Given the description of an element on the screen output the (x, y) to click on. 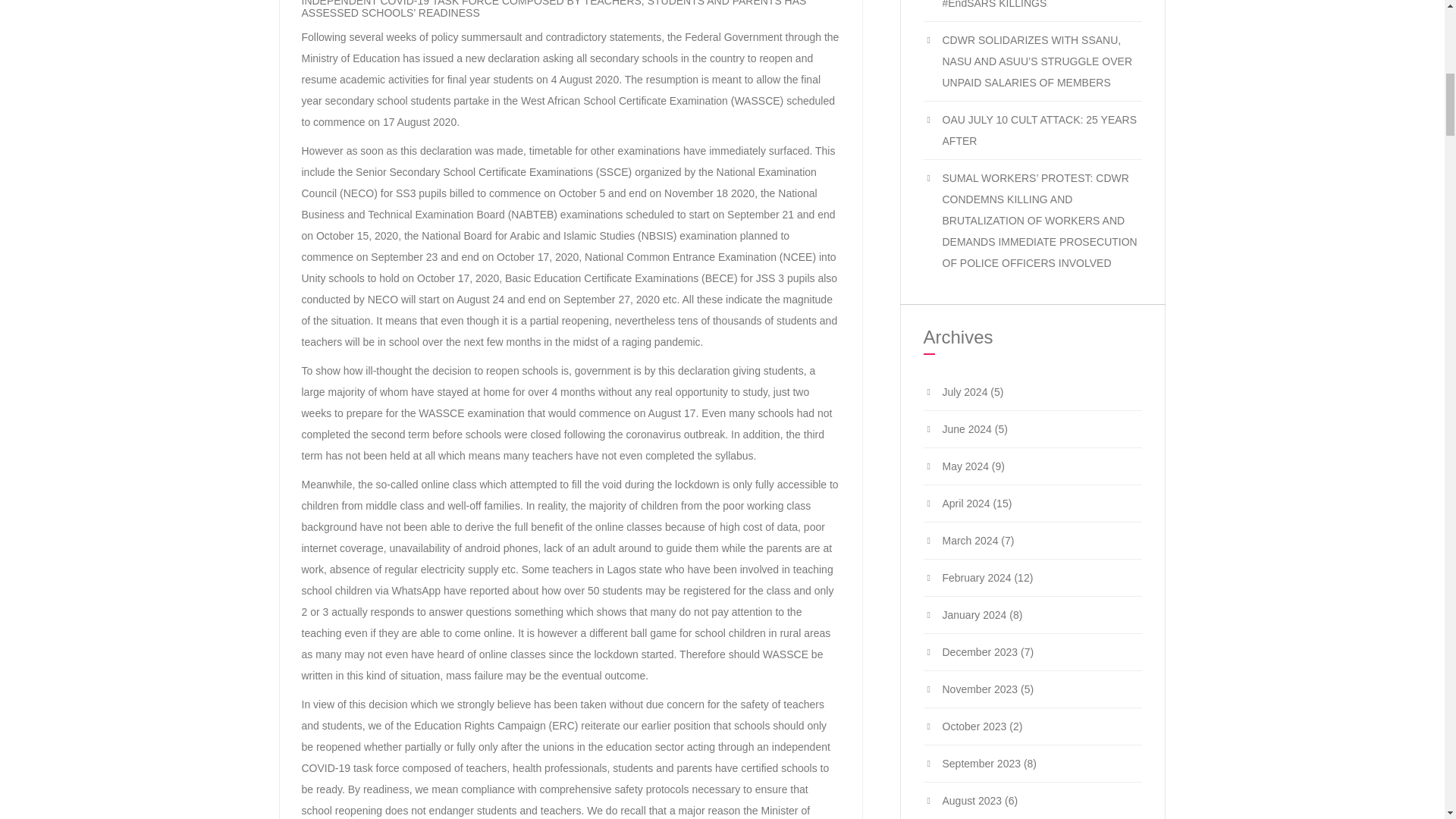
OAU JULY 10 CULT ATTACK: 25 YEARS AFTER (1039, 130)
July 2024 (964, 391)
June 2024 (966, 428)
